Given the description of an element on the screen output the (x, y) to click on. 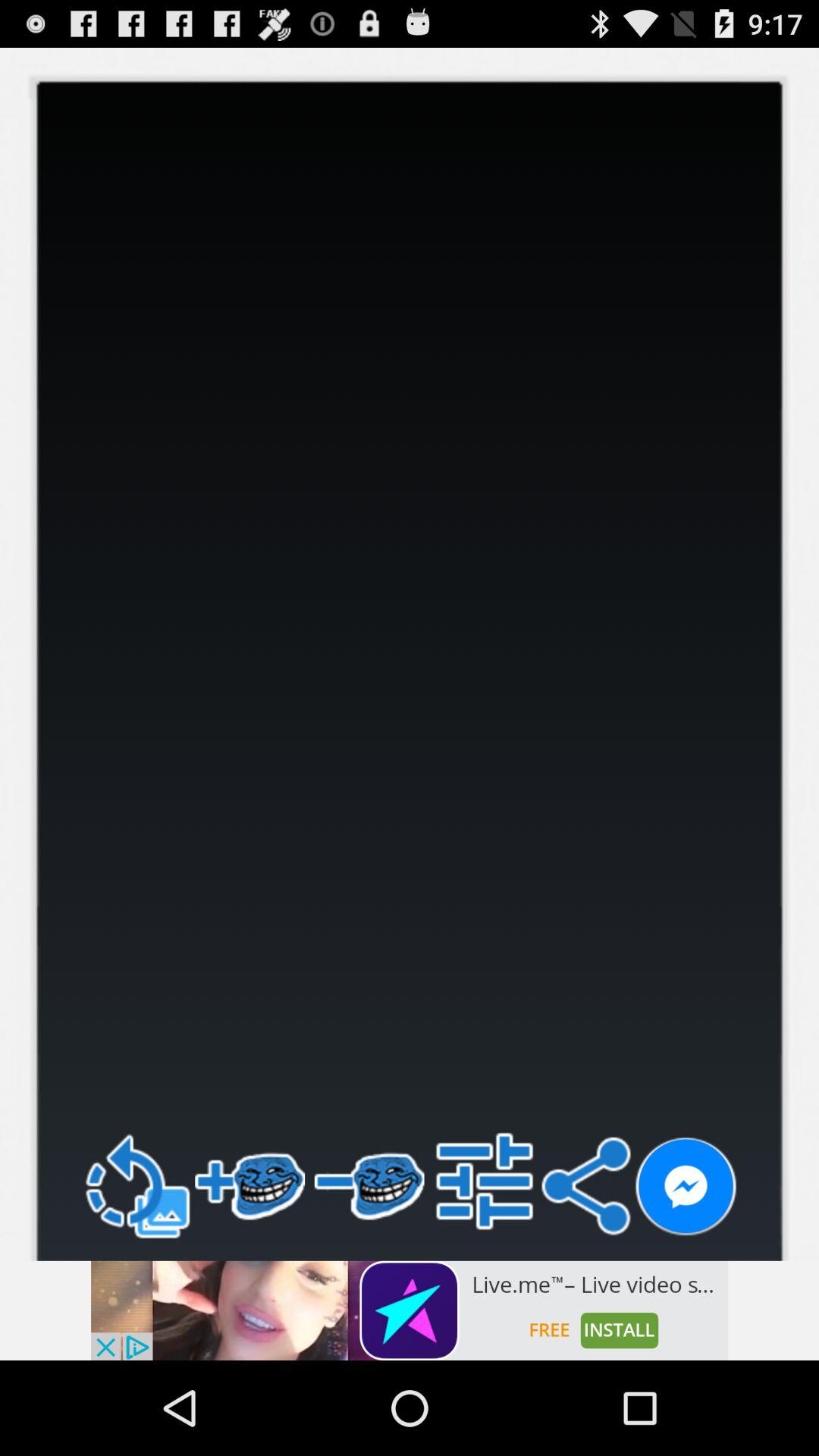
go to msg button (685, 1187)
